Given the description of an element on the screen output the (x, y) to click on. 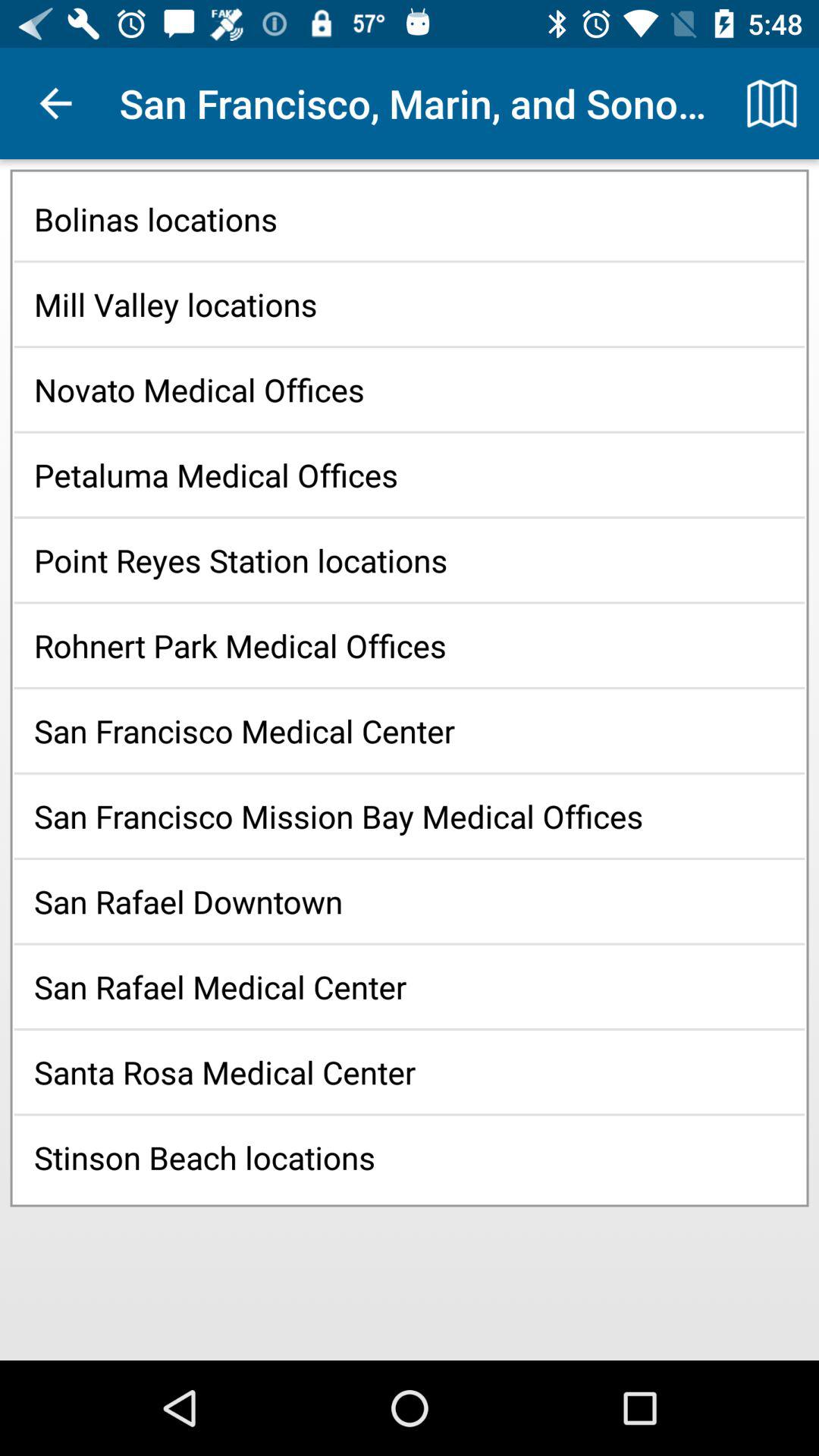
click icon above stinson beach locations item (409, 1071)
